Given the description of an element on the screen output the (x, y) to click on. 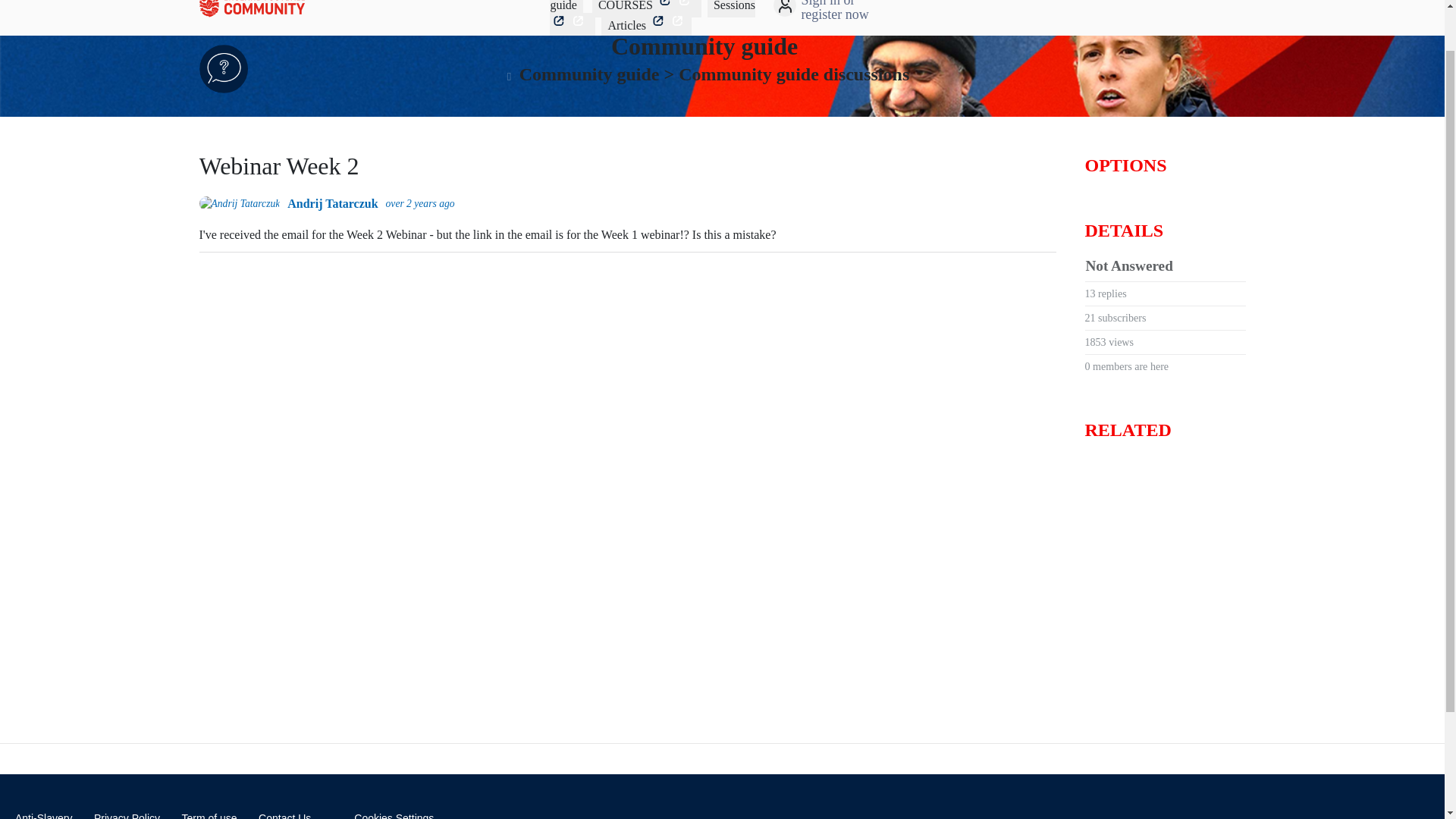
Community guide (704, 45)
Community guide (641, 5)
Sign in or register now (849, 12)
Home (374, 8)
Community guide discussions (793, 74)
User (785, 9)
Sign in or register now (785, 9)
Sign in or register now (849, 12)
Articles (646, 24)
COURSES (646, 5)
Sessions (652, 15)
